Given the description of an element on the screen output the (x, y) to click on. 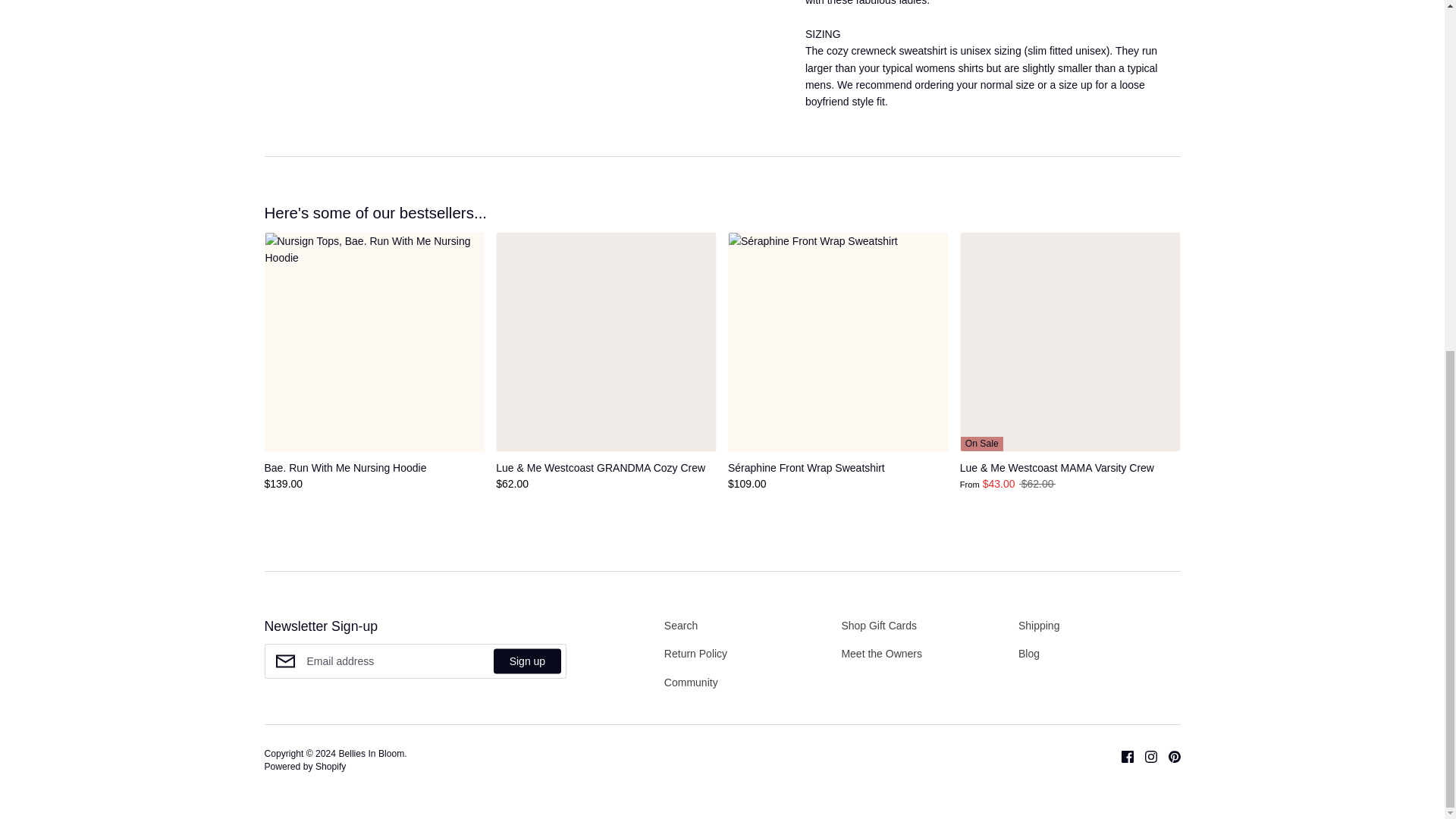
Pinterest (1168, 756)
Facebook (1121, 756)
Instagram (1144, 756)
